Given the description of an element on the screen output the (x, y) to click on. 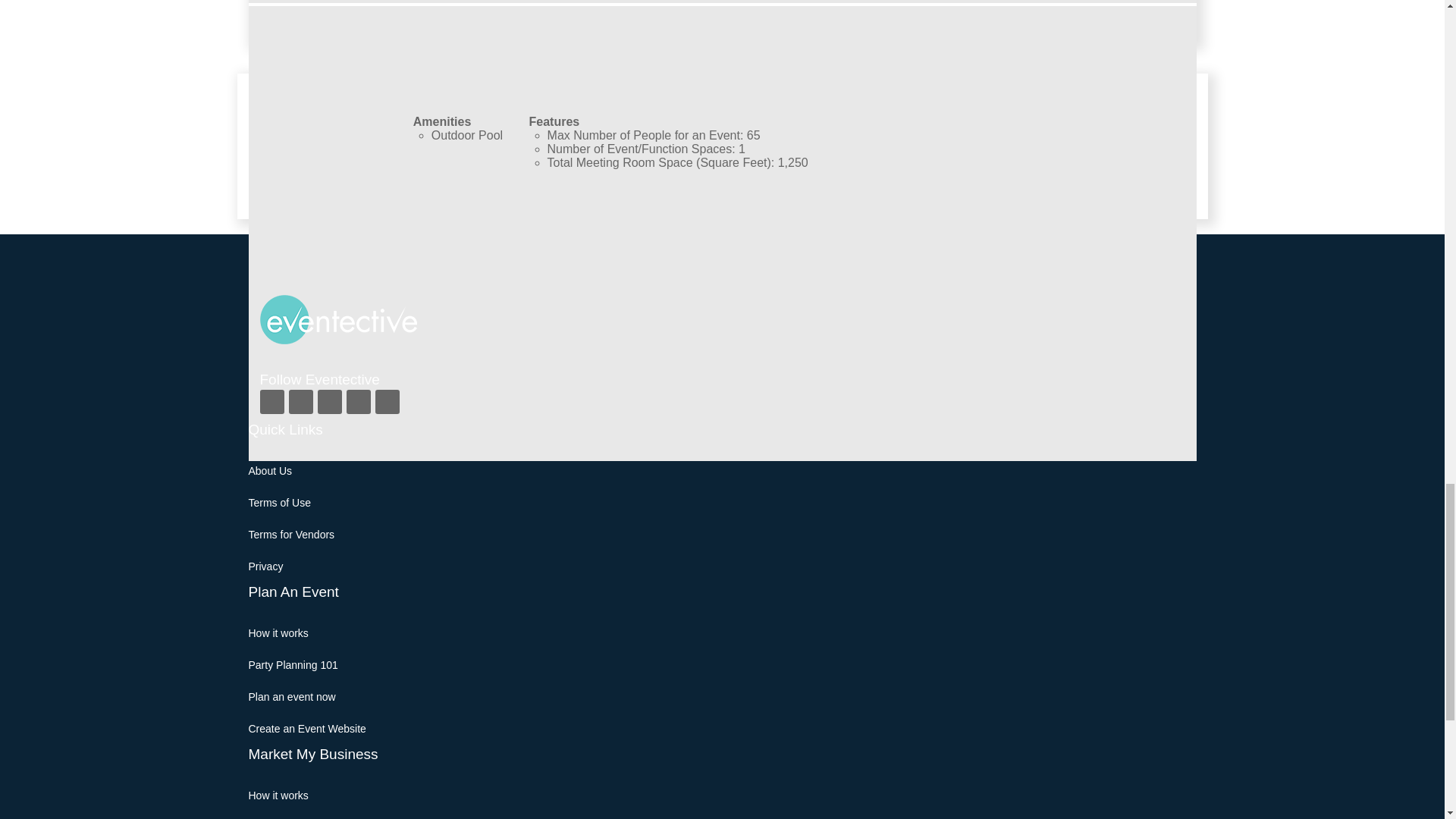
Follow on Instagram (328, 401)
Follow on Facebook (271, 401)
Plan an event now (292, 696)
How it works (278, 633)
Follow on LinkedIn (386, 401)
About Us (270, 470)
How it works (278, 795)
Terms of Use (279, 502)
Terms for Vendors (291, 534)
Privacy (265, 566)
Follow on Twitter (300, 401)
Party Planning 101 (292, 664)
Follow on Pinterest (357, 401)
Create an Event Website (307, 728)
